Given the description of an element on the screen output the (x, y) to click on. 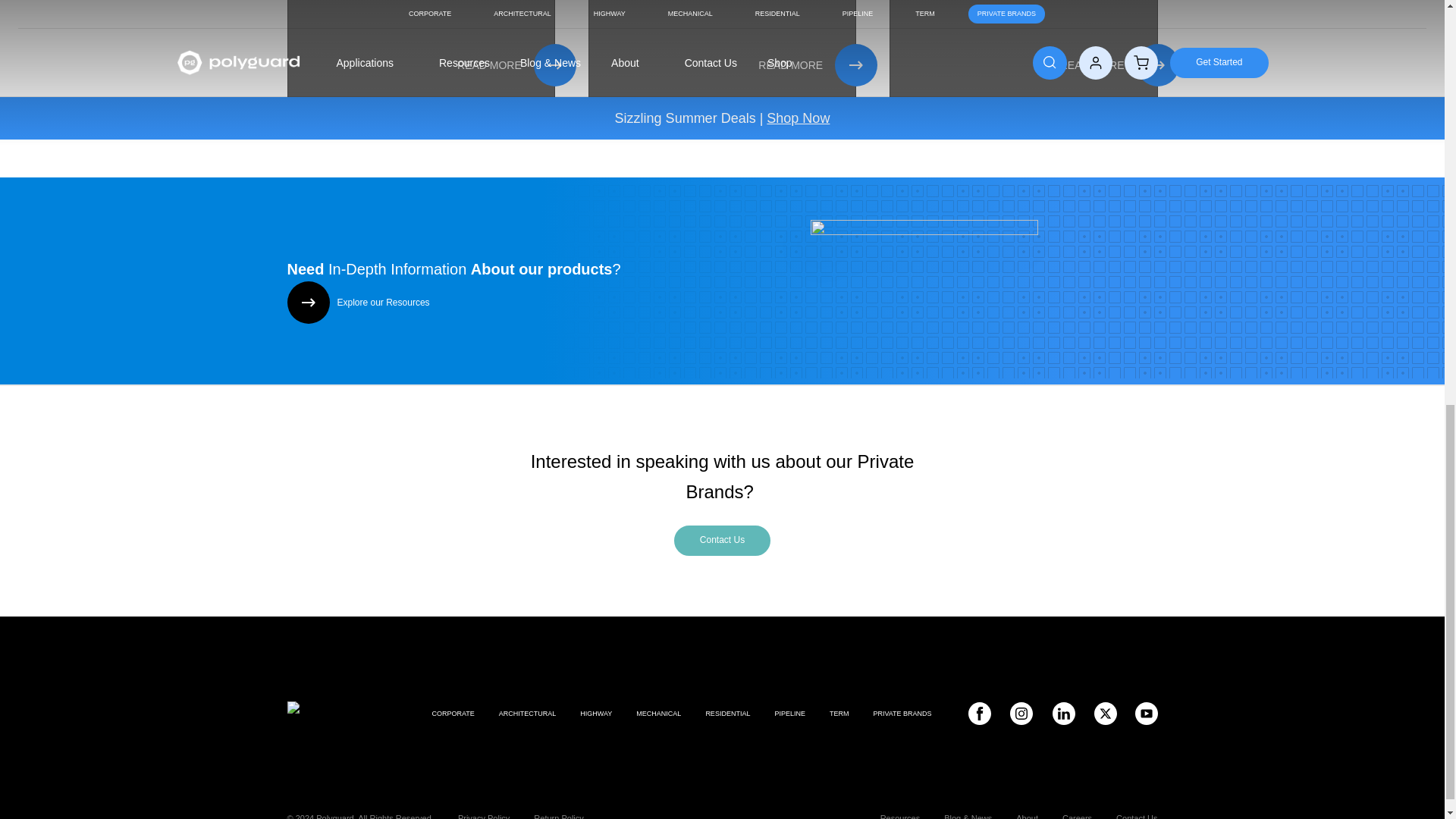
polyguard-products (1063, 712)
polyguardusa (1104, 712)
polyguardproducts (1020, 712)
polyguardproducts (1145, 712)
polyguardproducts (979, 712)
